Given the description of an element on the screen output the (x, y) to click on. 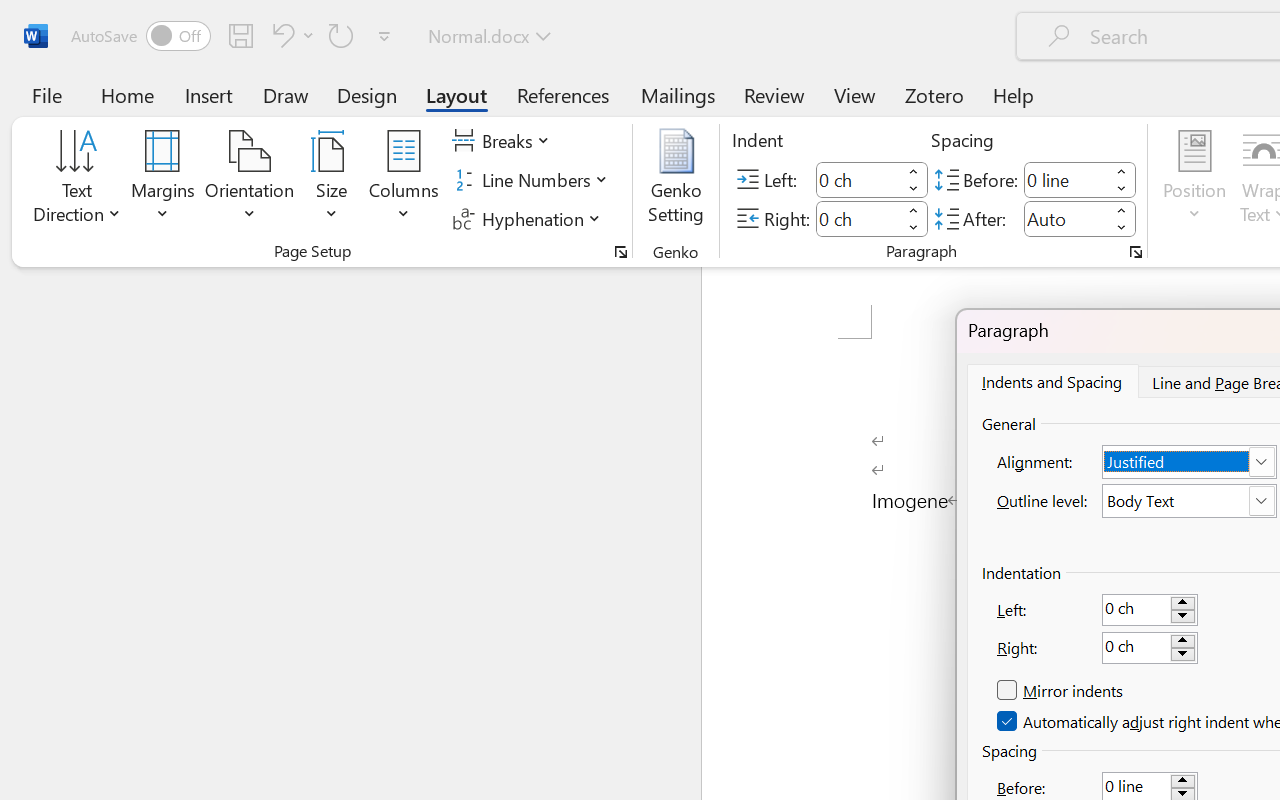
Undo Paragraph Formatting (280, 35)
Orientation (250, 179)
Page Setup... (621, 252)
Hyphenation (529, 218)
Left: (1150, 609)
Indent Right (858, 218)
Less (1121, 227)
Size (331, 179)
Genko Setting... (676, 179)
